Given the description of an element on the screen output the (x, y) to click on. 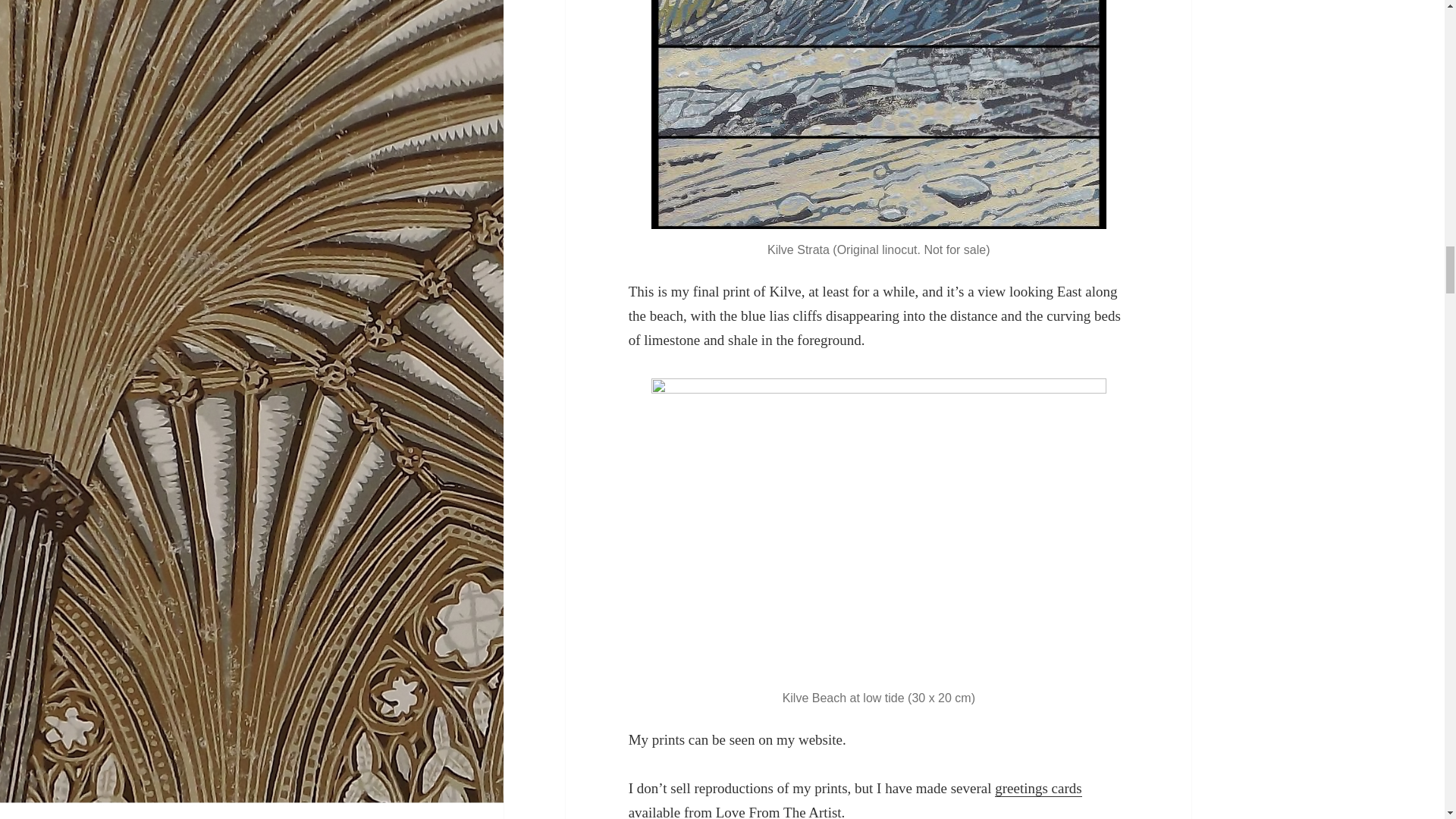
greetings cards (1037, 788)
